Given the description of an element on the screen output the (x, y) to click on. 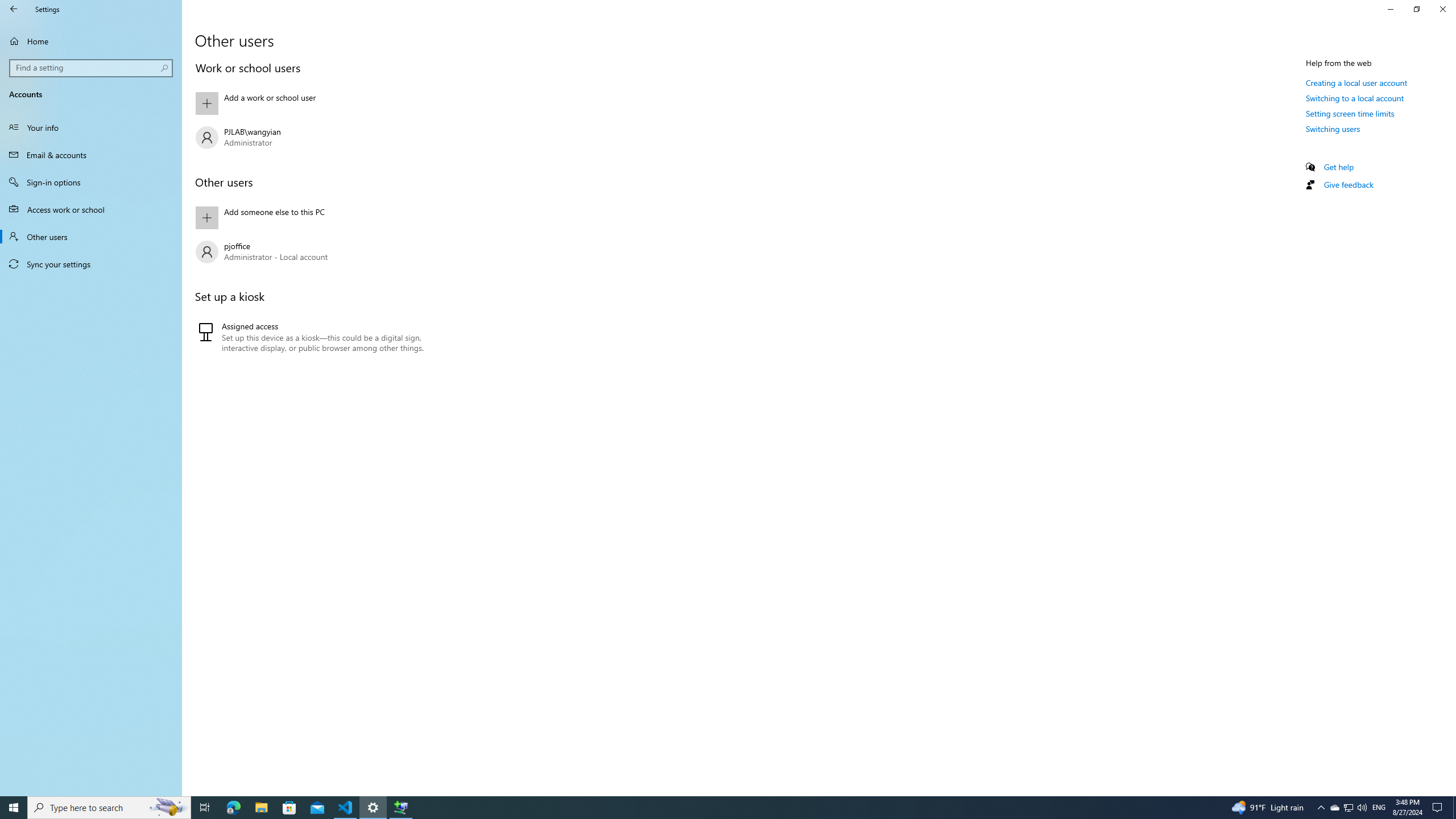
Add someone else to this PC (1347, 807)
Show desktop (319, 217)
Running applications (1454, 807)
Settings - 1 running window (706, 807)
Microsoft Edge (373, 807)
Notification Chevron (233, 807)
Get help (1320, 807)
Back (1338, 166)
pjoffice Administrator - Local account (1333, 807)
Add a work or school user (13, 9)
Task View (319, 251)
Creating a local user account (319, 103)
